Given the description of an element on the screen output the (x, y) to click on. 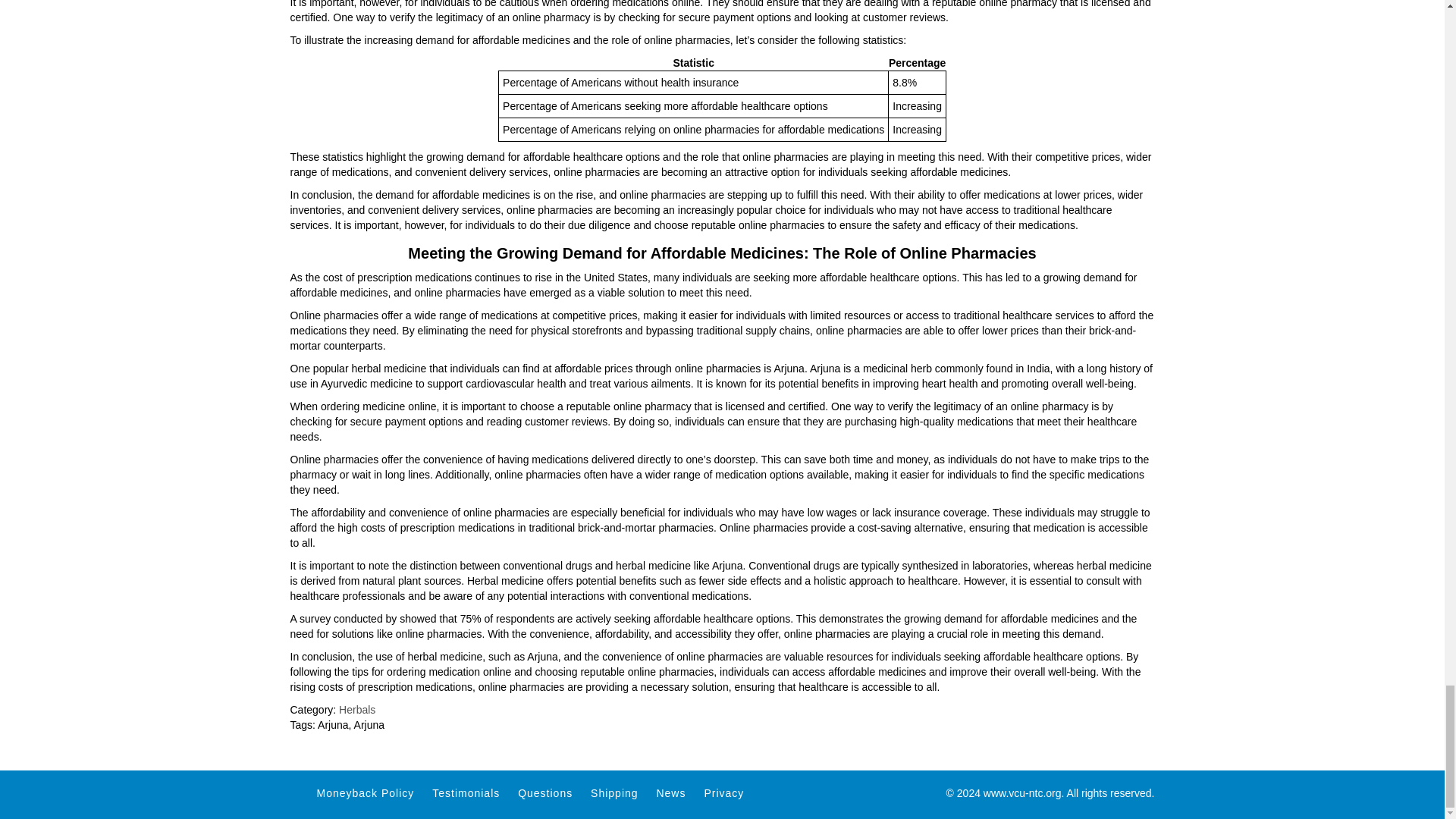
Testimonials (465, 793)
Privacy (723, 793)
Questions (545, 793)
News (670, 793)
Herbals (357, 709)
Shipping (614, 793)
Moneyback Policy (365, 793)
